Given the description of an element on the screen output the (x, y) to click on. 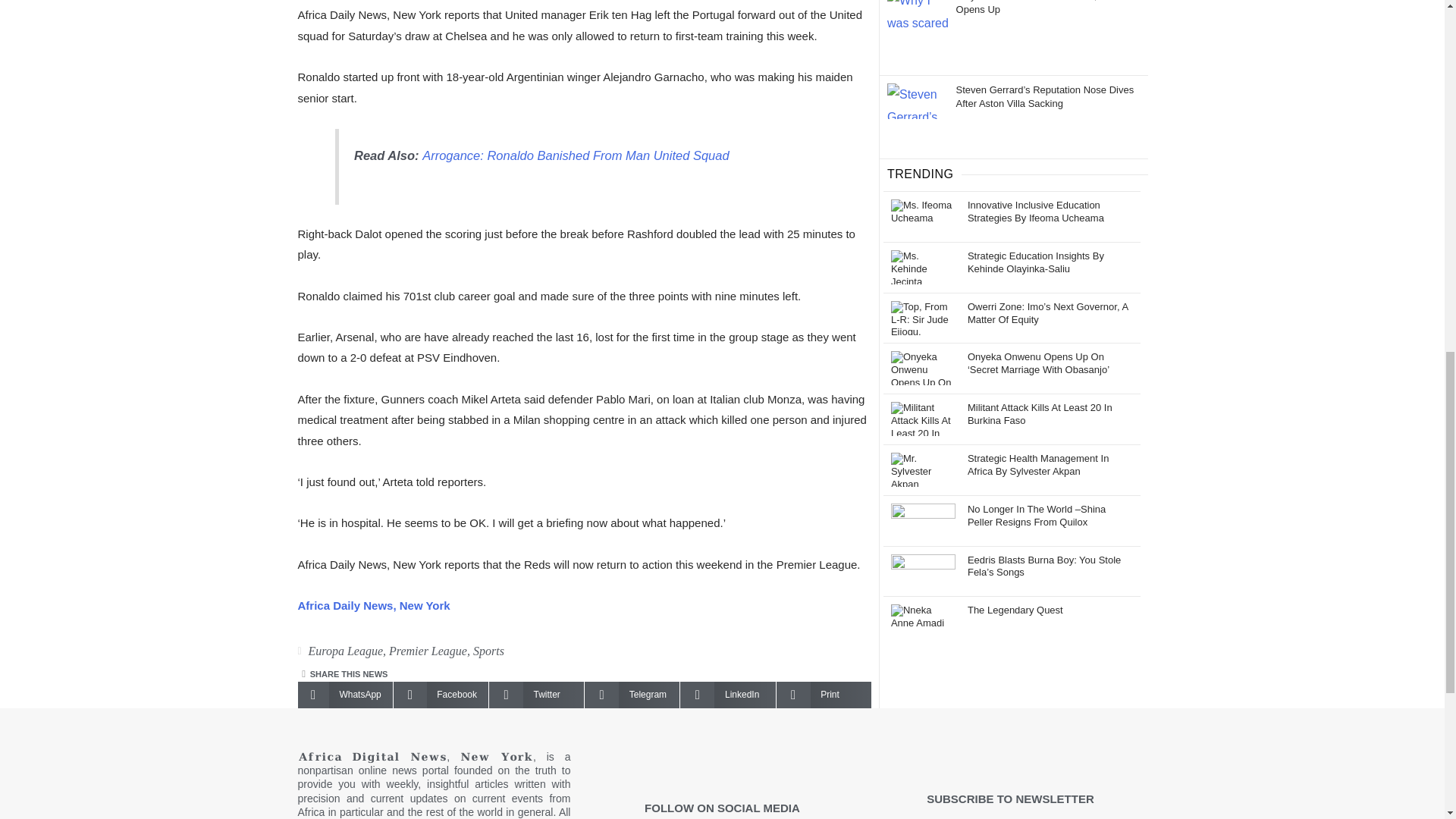
Premier League (427, 650)
Arrogance: Ronaldo Banished From Man United Squad (575, 155)
Europa League (344, 650)
Sports (488, 650)
Africa Daily News, New York (373, 604)
